Given the description of an element on the screen output the (x, y) to click on. 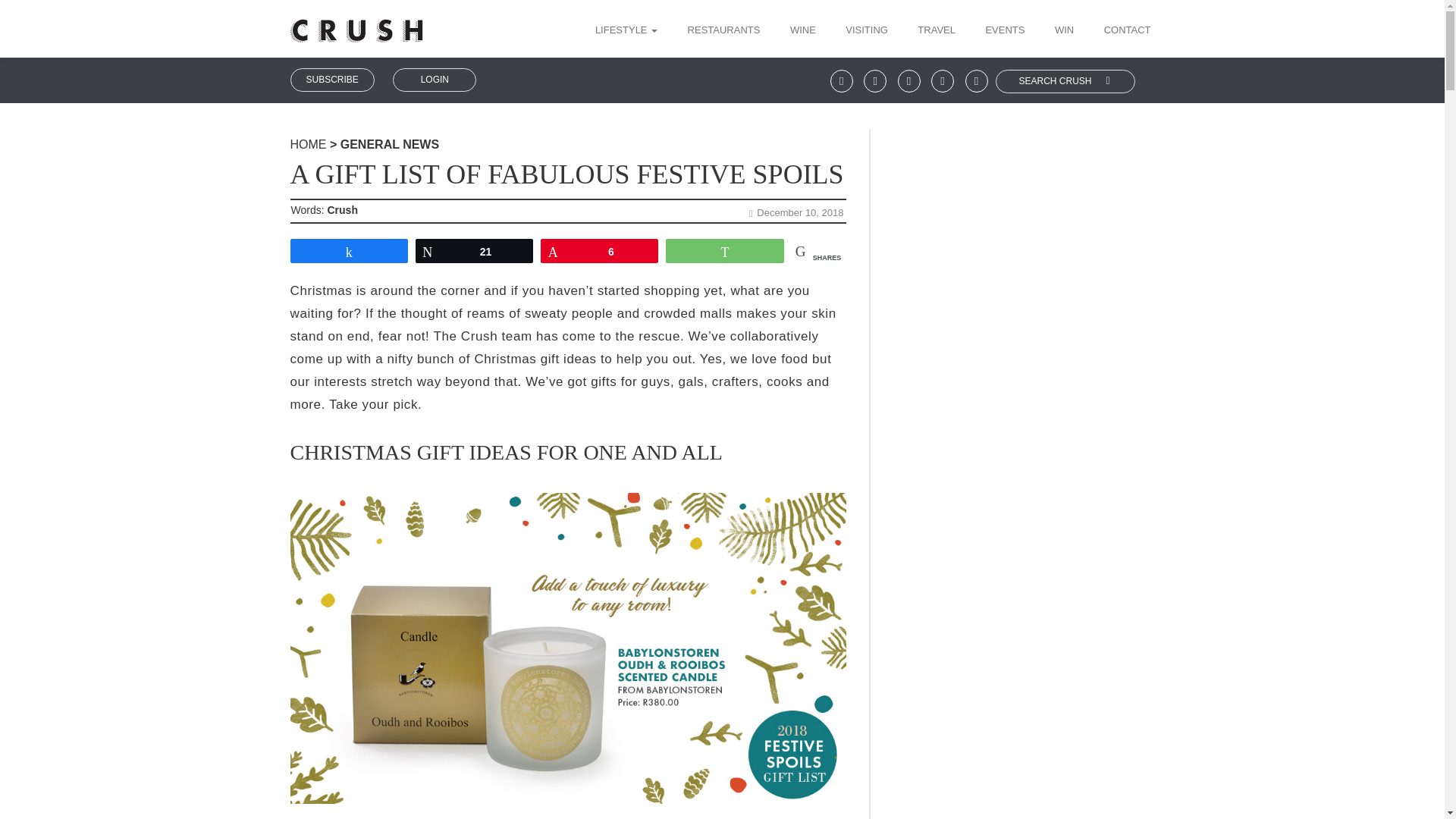
EVENTS (1004, 31)
WIN (1063, 31)
Crush Mag Online (355, 24)
RESTAURANTS (724, 31)
WINE (802, 31)
VISITING (866, 31)
Crush Magazine (307, 144)
TRAVEL (935, 31)
CONTACT (1122, 31)
LIFESTYLE (631, 31)
